Given the description of an element on the screen output the (x, y) to click on. 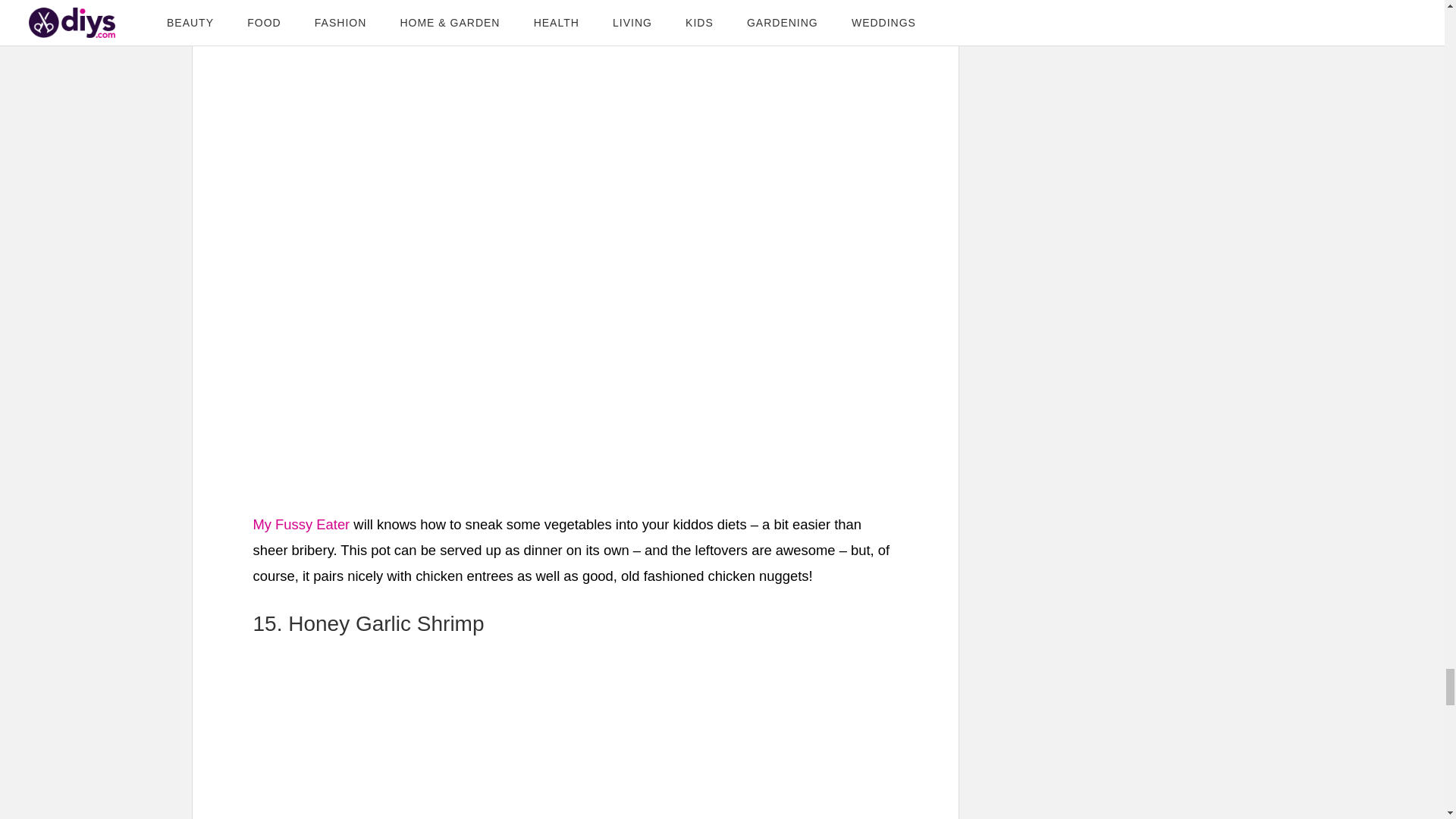
My Fussy Eater (301, 524)
